Given the description of an element on the screen output the (x, y) to click on. 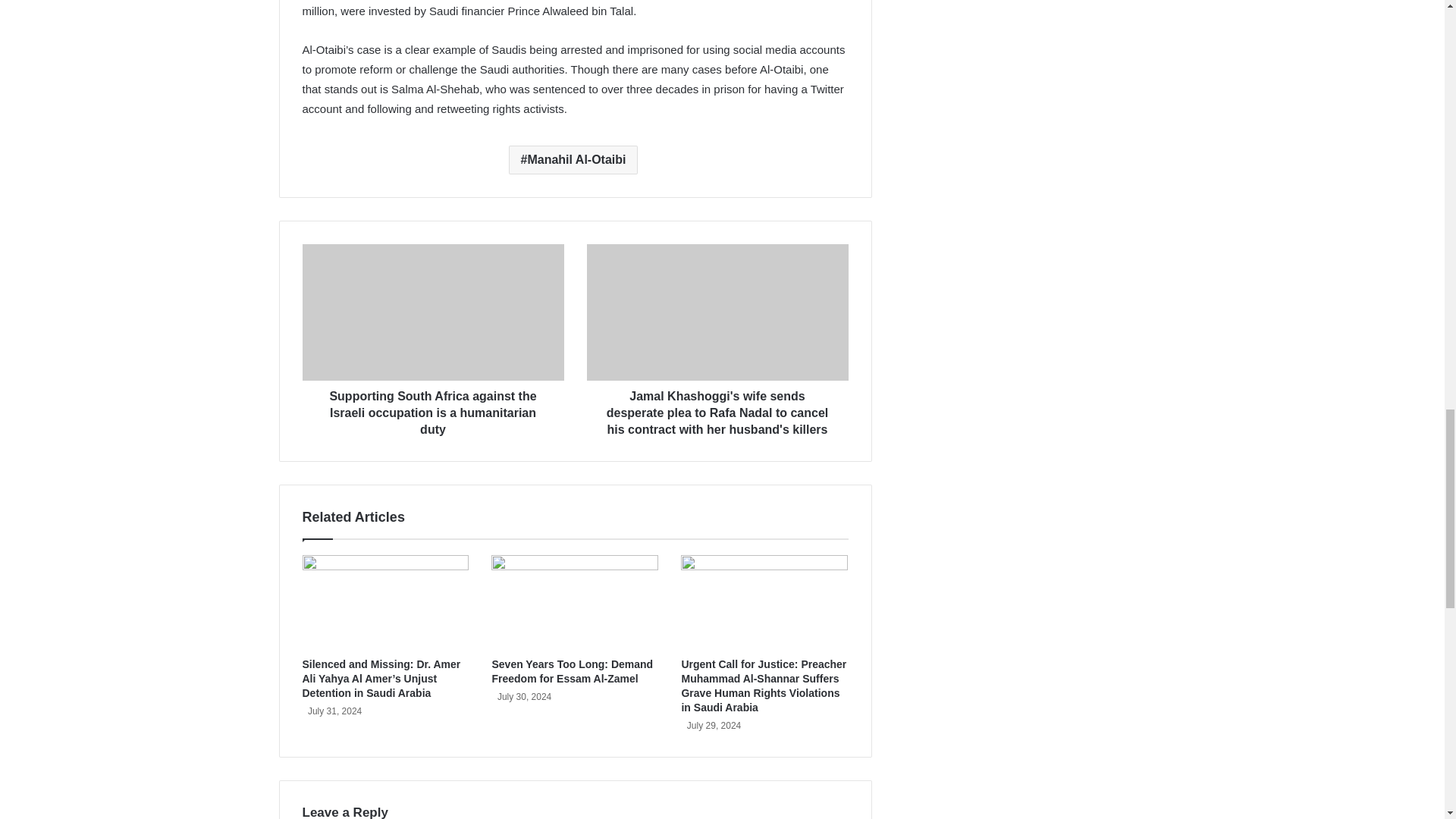
Manahil Al-Otaibi (572, 159)
